Given the description of an element on the screen output the (x, y) to click on. 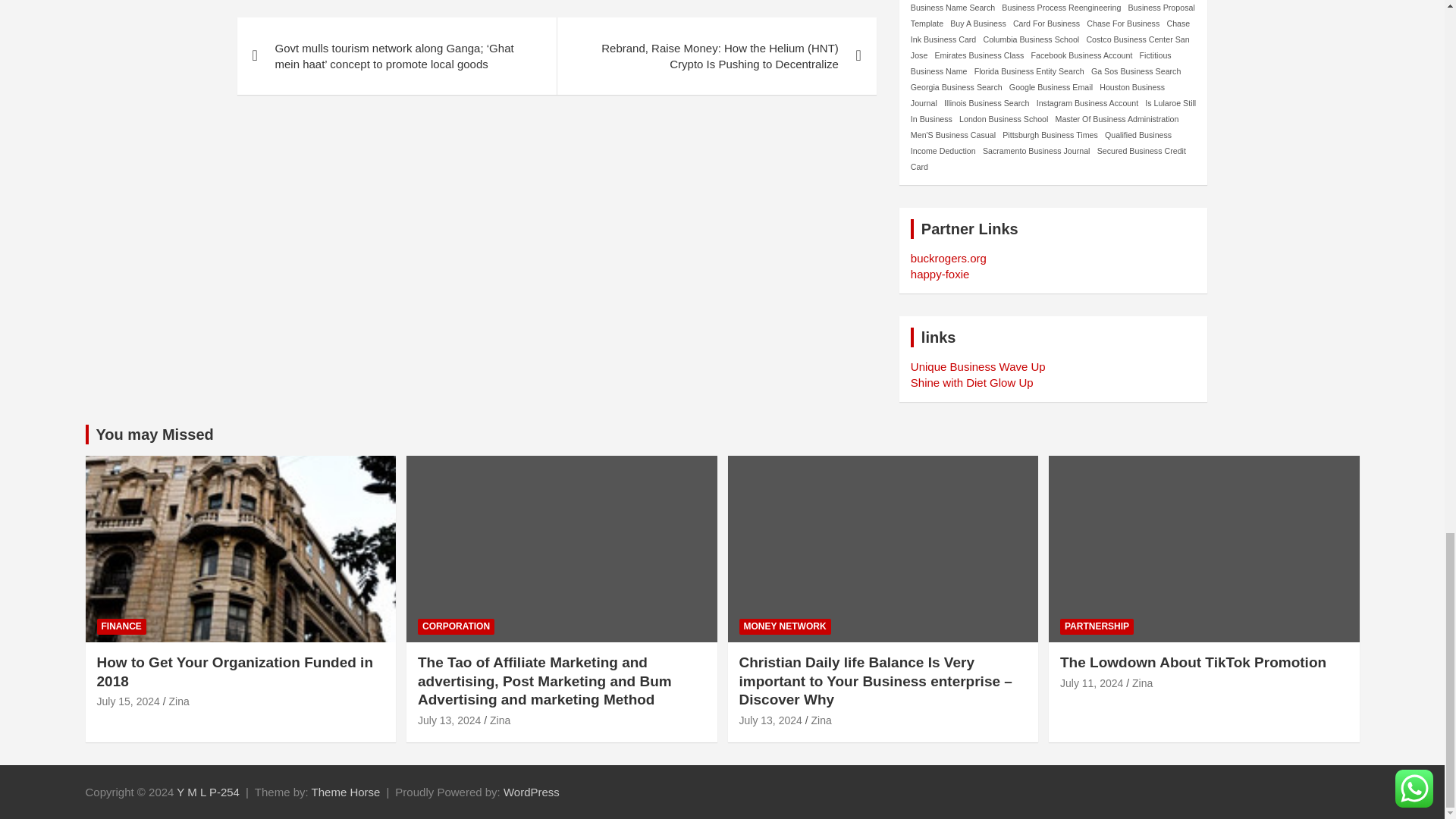
Theme Horse (345, 791)
How to Get Your Organization Funded in 2018 (128, 701)
Y M L P-254 (208, 791)
The Lowdown About TikTok Promotion (1090, 683)
WordPress (531, 791)
